Given the description of an element on the screen output the (x, y) to click on. 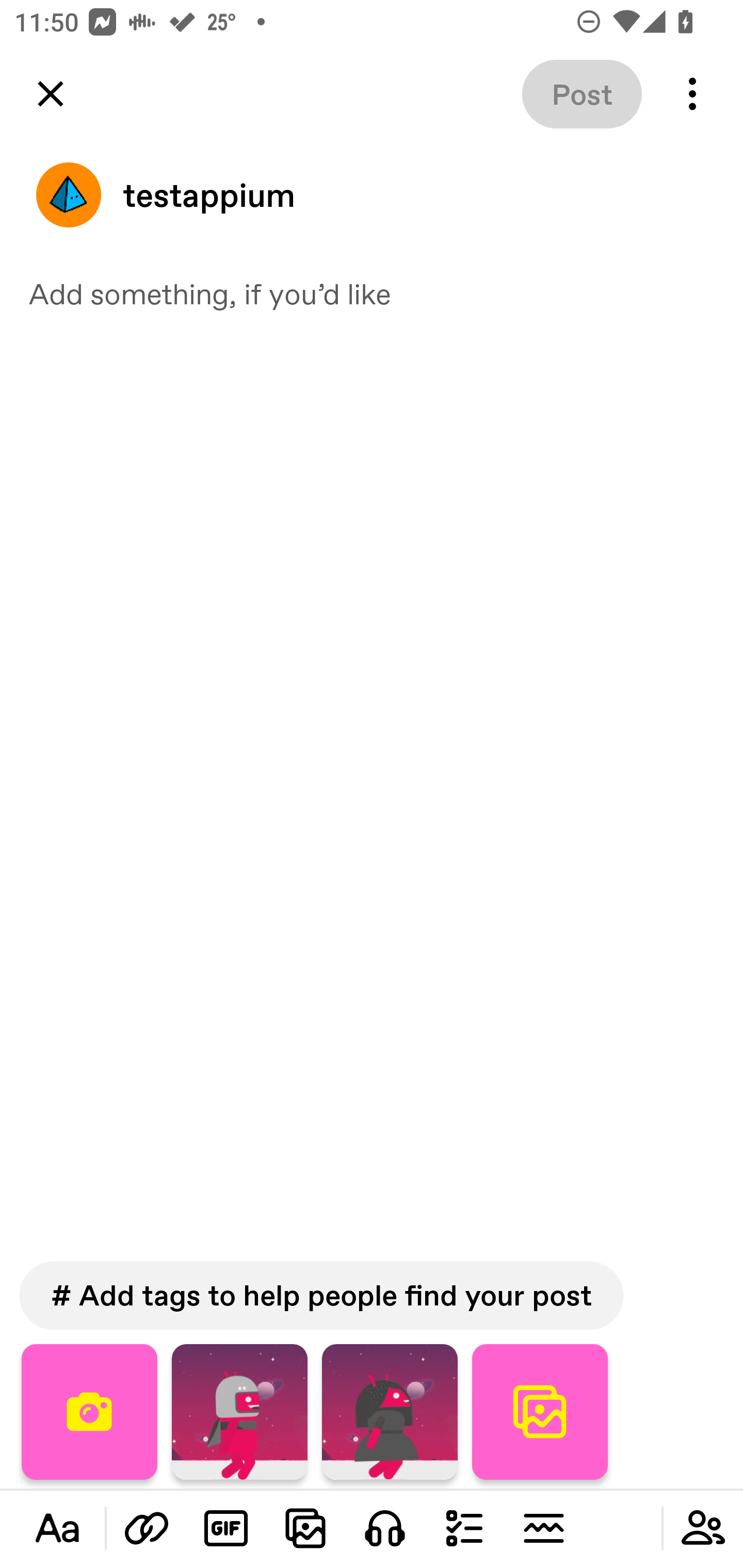
Navigate up (50, 93)
Post (581, 93)
Blog Selector testappium (371, 195)
Add something, if you’d like (371, 293)
# Add tags to help people find your post (320, 1295)
Photo (239, 1411)
Photo (389, 1411)
Add text to post (57, 1528)
Add text to post (146, 1528)
Add GIF to post (225, 1528)
Add Photo to post (305, 1528)
Add Audio to post (384, 1528)
Add Poll to post (463, 1528)
Add read-more link to post (543, 1528)
Add community label for post (703, 1528)
